Given the description of an element on the screen output the (x, y) to click on. 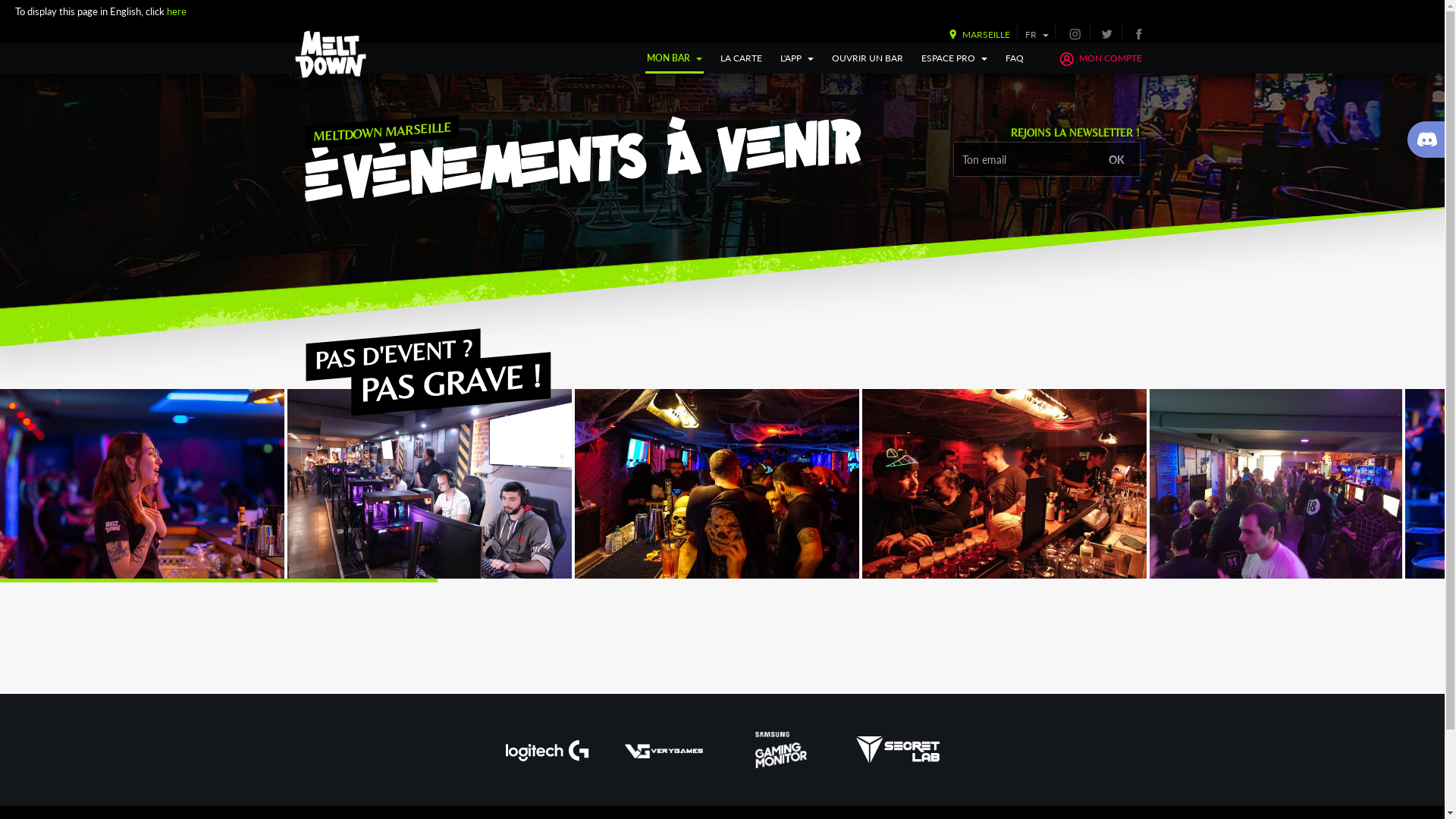
here Element type: text (176, 10)
FACEBOOK Element type: text (1138, 32)
INSTAGRAM Element type: text (1075, 32)
OUVRIR UN BAR Element type: text (867, 58)
OK Element type: text (1116, 158)
L'APP Element type: text (796, 58)
MON COMPTE Element type: text (1099, 58)
ESPACE PRO Element type: text (954, 58)
FAQ Element type: text (1014, 58)
MELTDOWN Element type: text (330, 54)
FR Element type: text (1036, 34)
TWITTER Element type: text (1107, 32)
LA CARTE Element type: text (741, 58)
MON BAR Element type: text (674, 58)
MARSEILLE Element type: text (975, 34)
